Given the description of an element on the screen output the (x, y) to click on. 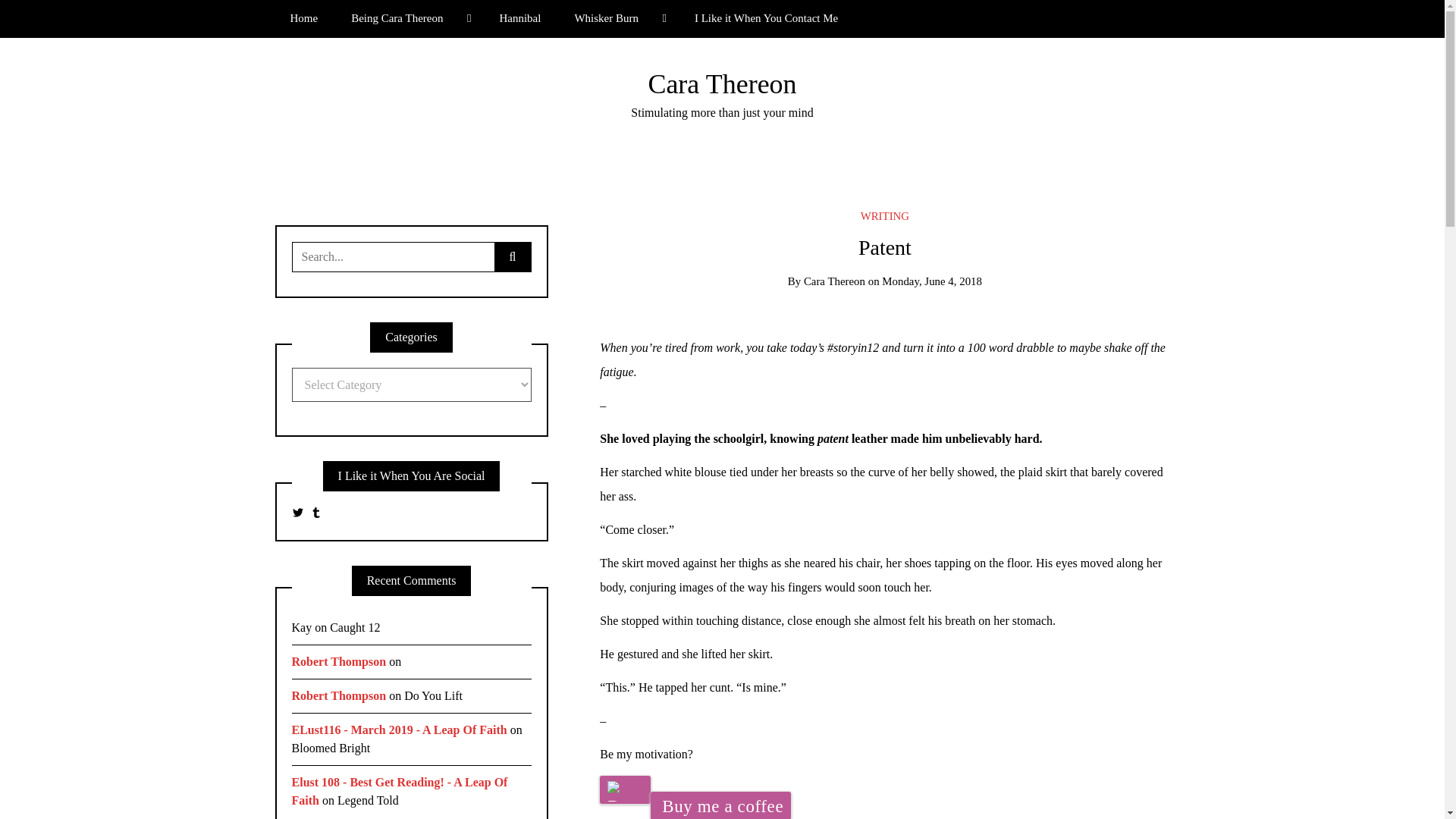
Cara Thereon (833, 281)
Cara Thereon (721, 83)
Whisker Burn (618, 18)
Posts by Cara Thereon (833, 281)
WRITING (884, 215)
Hannibal (519, 18)
Being Cara Thereon (408, 18)
Home (304, 18)
Monday, June 4, 2018 (931, 281)
Buy me a coffee (720, 805)
I Like it When You Contact Me (766, 18)
